Given the description of an element on the screen output the (x, y) to click on. 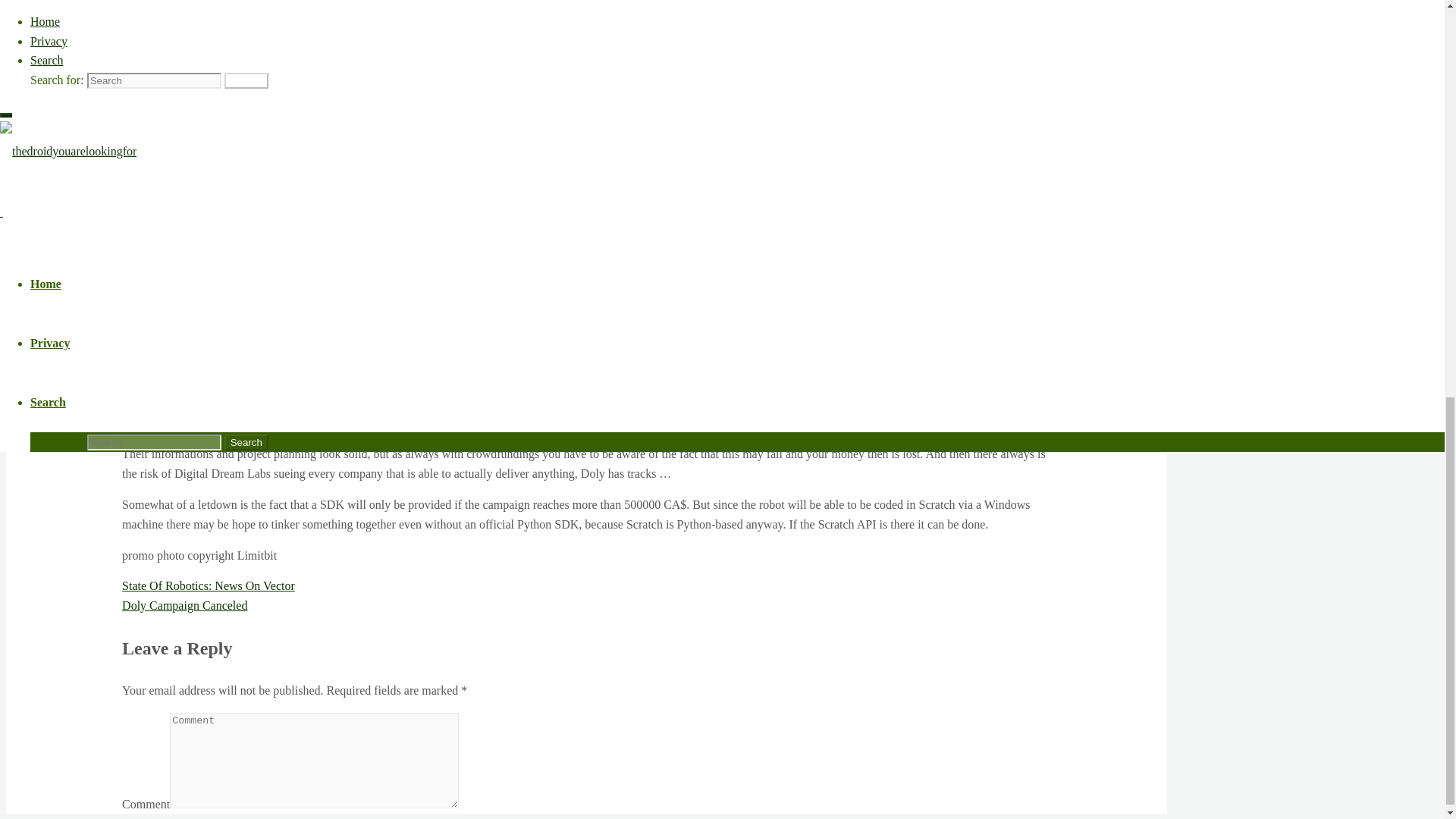
Kickstarter campaign (224, 58)
Doly Campaign Canceled (184, 604)
State Of Robotics: News On Vector (208, 585)
Moorebot Scout comes close (793, 319)
on the campaign page on Kickstarter. (504, 421)
